Given the description of an element on the screen output the (x, y) to click on. 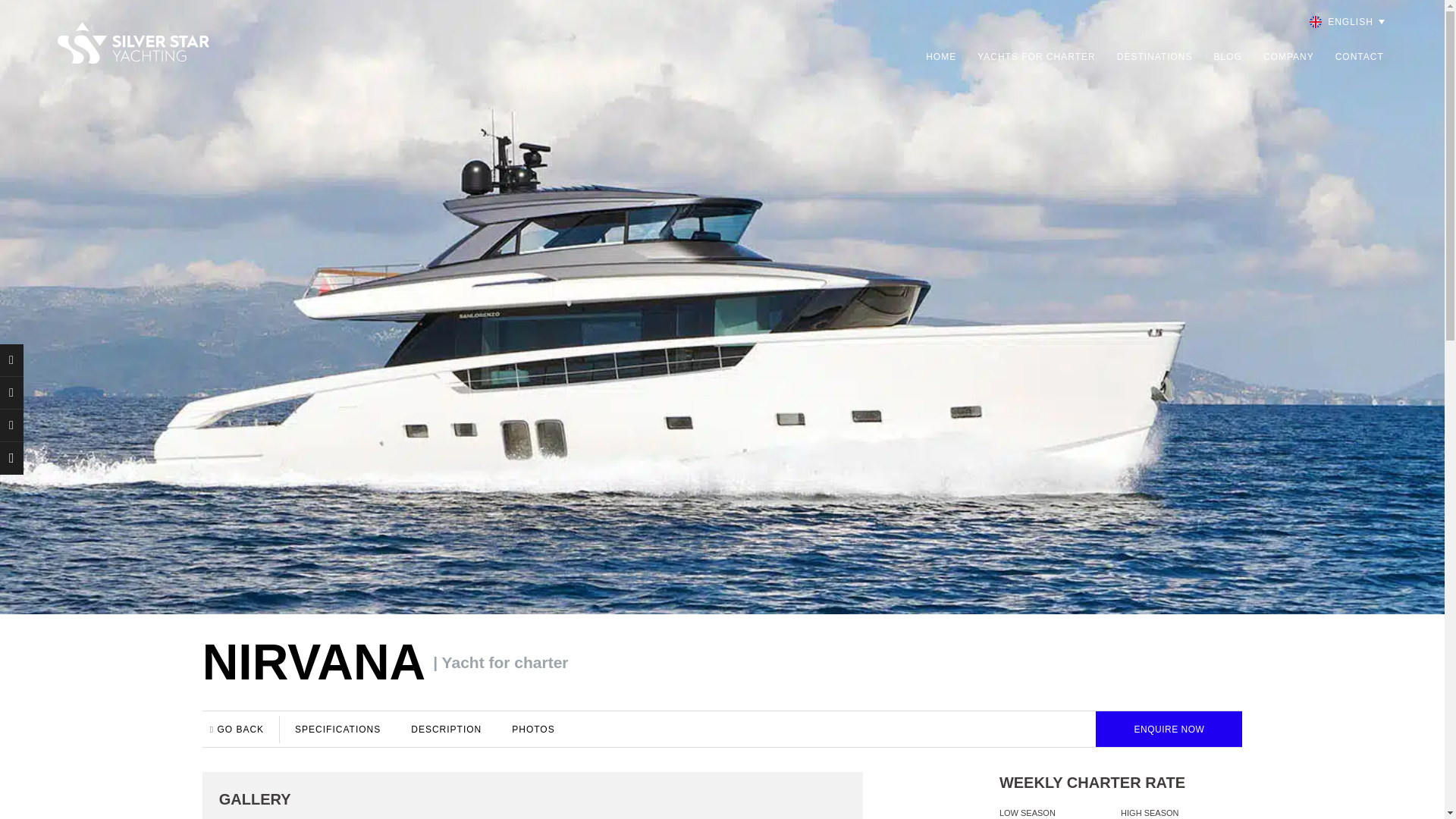
GO BACK (244, 728)
CONTACT (1359, 56)
DESTINATIONS (1154, 56)
COMPANY (1288, 56)
ENQUIRE NOW (1168, 728)
ENGLISH (1346, 21)
DESCRIPTION (446, 728)
YACHTS FOR CHARTER (1036, 56)
PHOTOS (532, 728)
SPECIFICATIONS (337, 728)
HOME (941, 56)
